Given the description of an element on the screen output the (x, y) to click on. 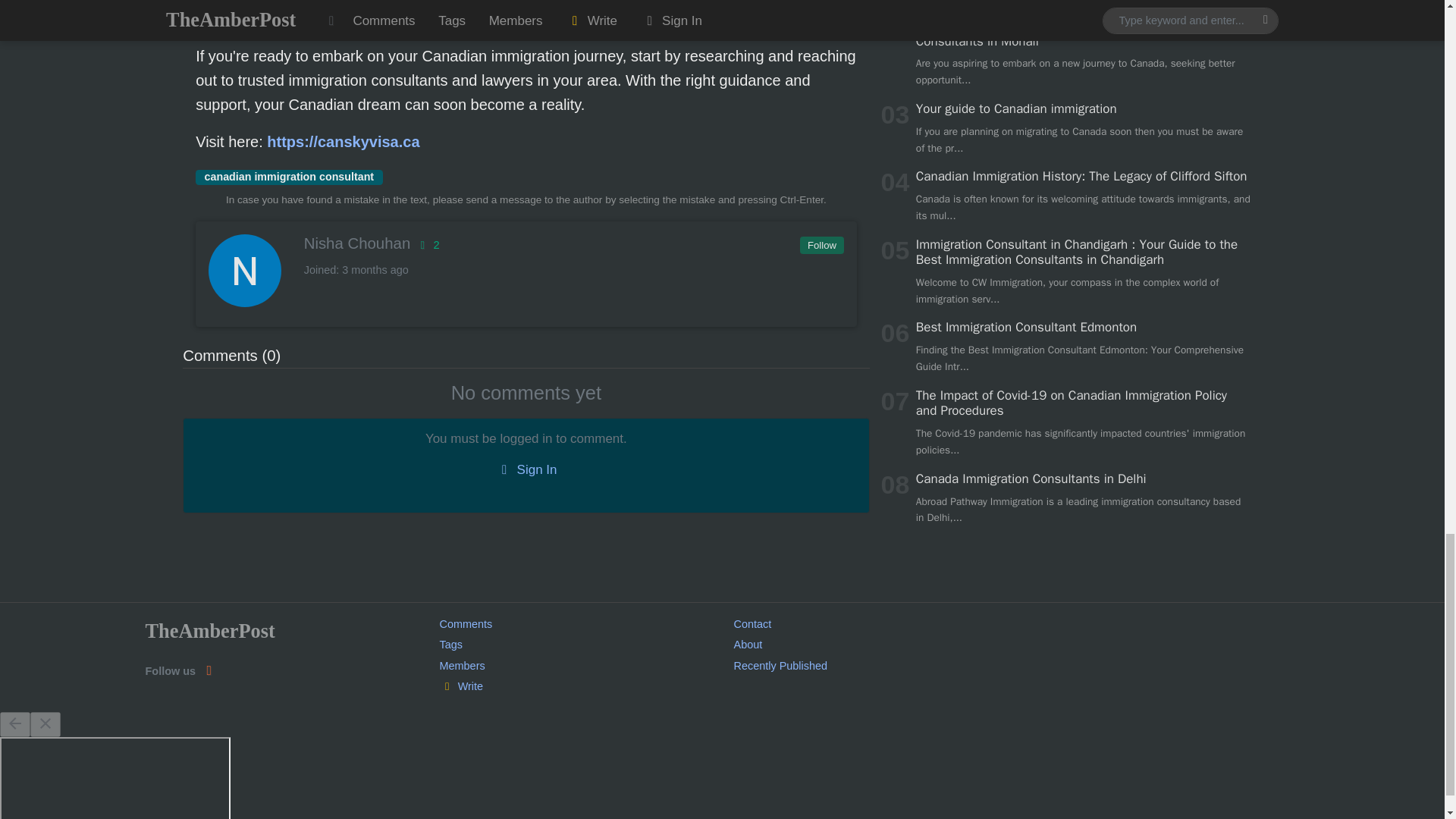
canadian immigration consultant (288, 177)
Rating (426, 244)
Sign In (525, 468)
Nisha Chouhan 2 (525, 243)
Follow (821, 245)
canadian immigration consultant (288, 177)
